Given the description of an element on the screen output the (x, y) to click on. 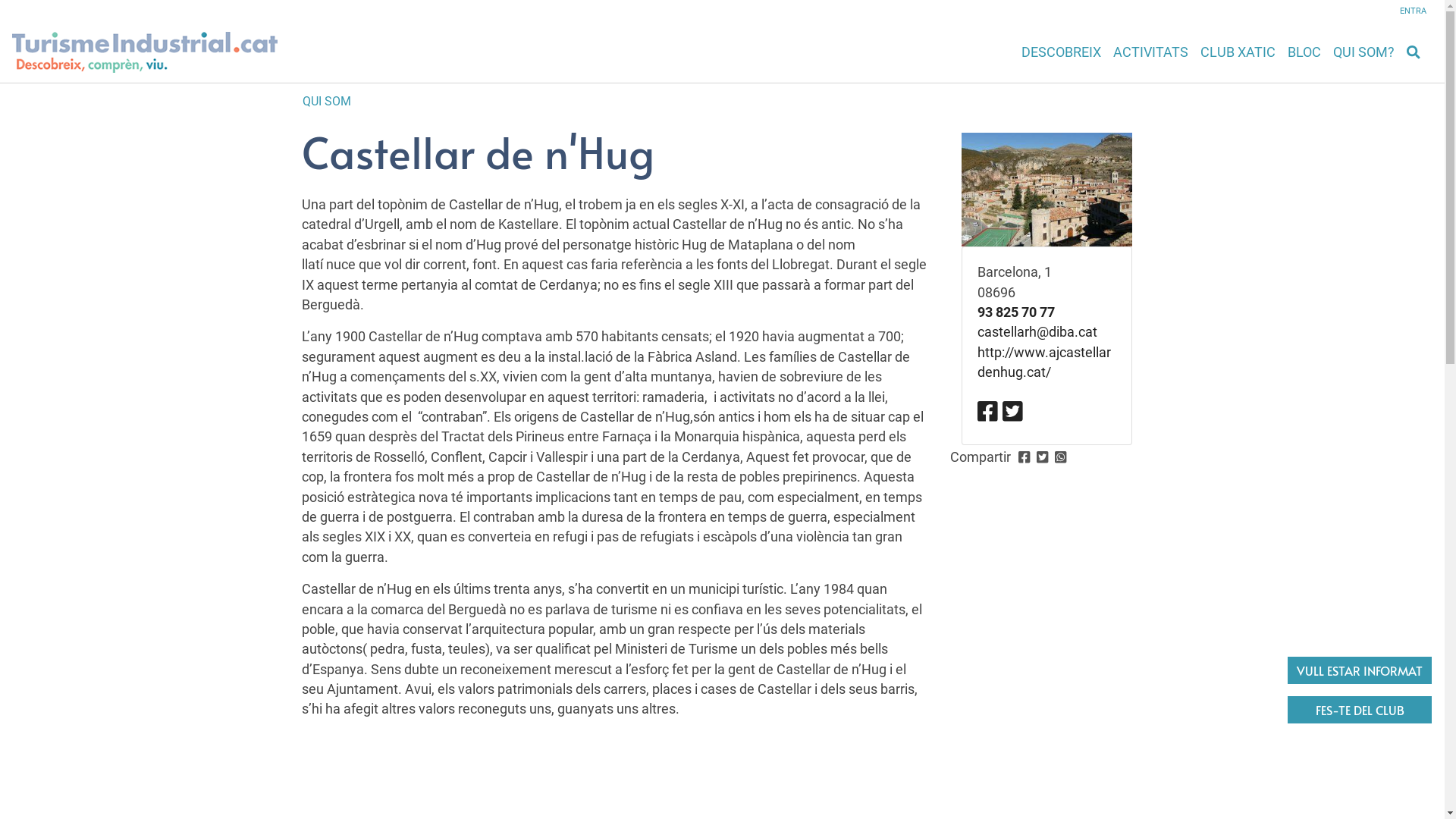
CLUB XATIC Element type: text (1237, 52)
QUI SOM Element type: text (325, 101)
castellarh@diba.cat Element type: text (1036, 331)
VULL ESTAR INFORMAT Element type: text (1359, 670)
Inici Element type: hover (144, 52)
BLOC Element type: text (1304, 52)
FES-TE DEL CLUB Element type: text (1359, 709)
QUI SOM? Element type: text (1363, 52)
ENTRA Element type: text (1421, 10)
93 825 70 77 Element type: text (1015, 312)
DESCOBREIX Element type: text (1061, 52)
http://www.ajcastellardenhug.cat/ Element type: text (1043, 362)
ACTIVITATS Element type: text (1150, 52)
